Given the description of an element on the screen output the (x, y) to click on. 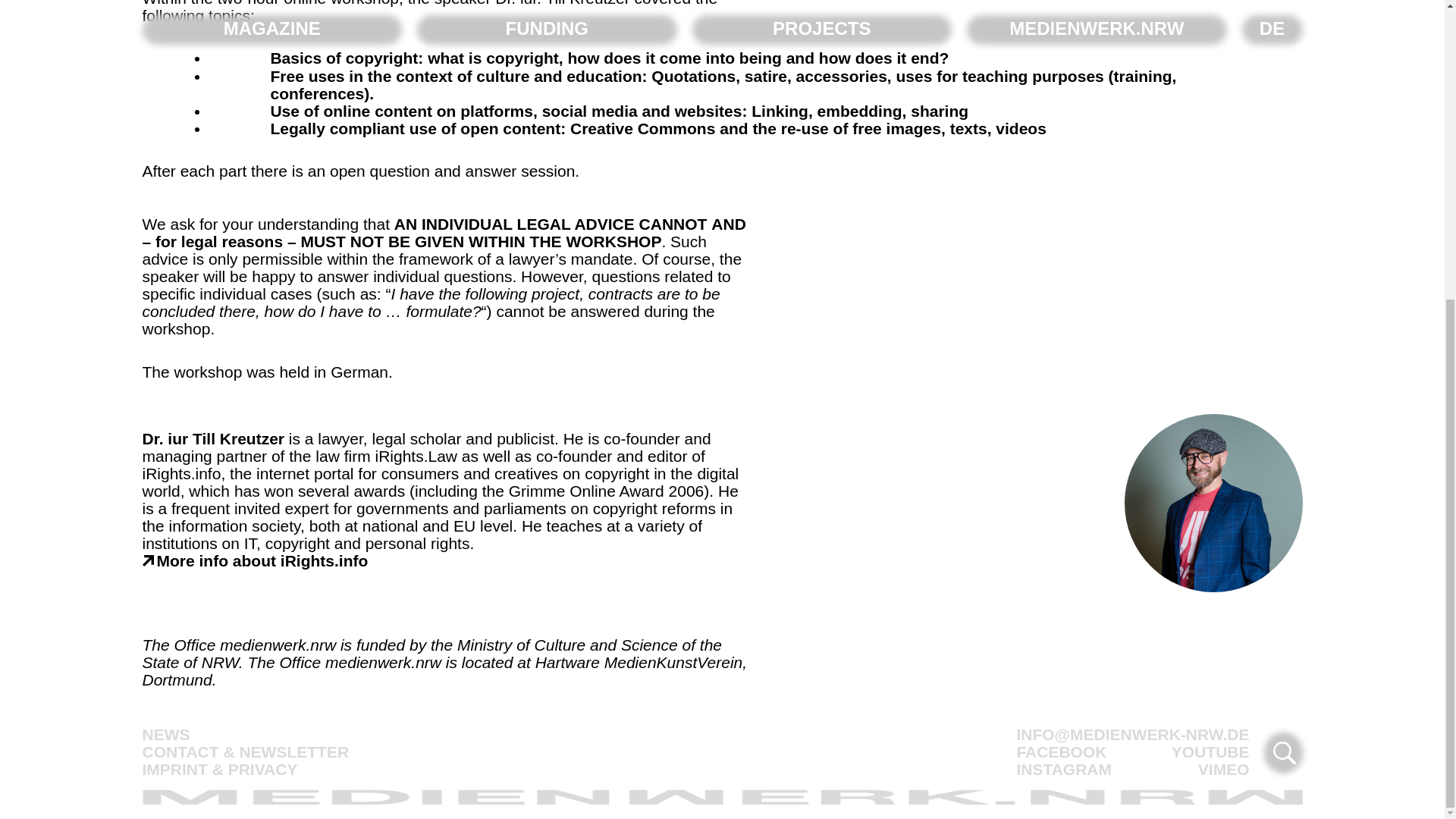
YOUTUBE (1210, 751)
INSTAGRAM (1064, 769)
NEWS (166, 733)
More info about iRights.info (255, 560)
FACEBOOK (1061, 751)
VIMEO (1223, 769)
